Given the description of an element on the screen output the (x, y) to click on. 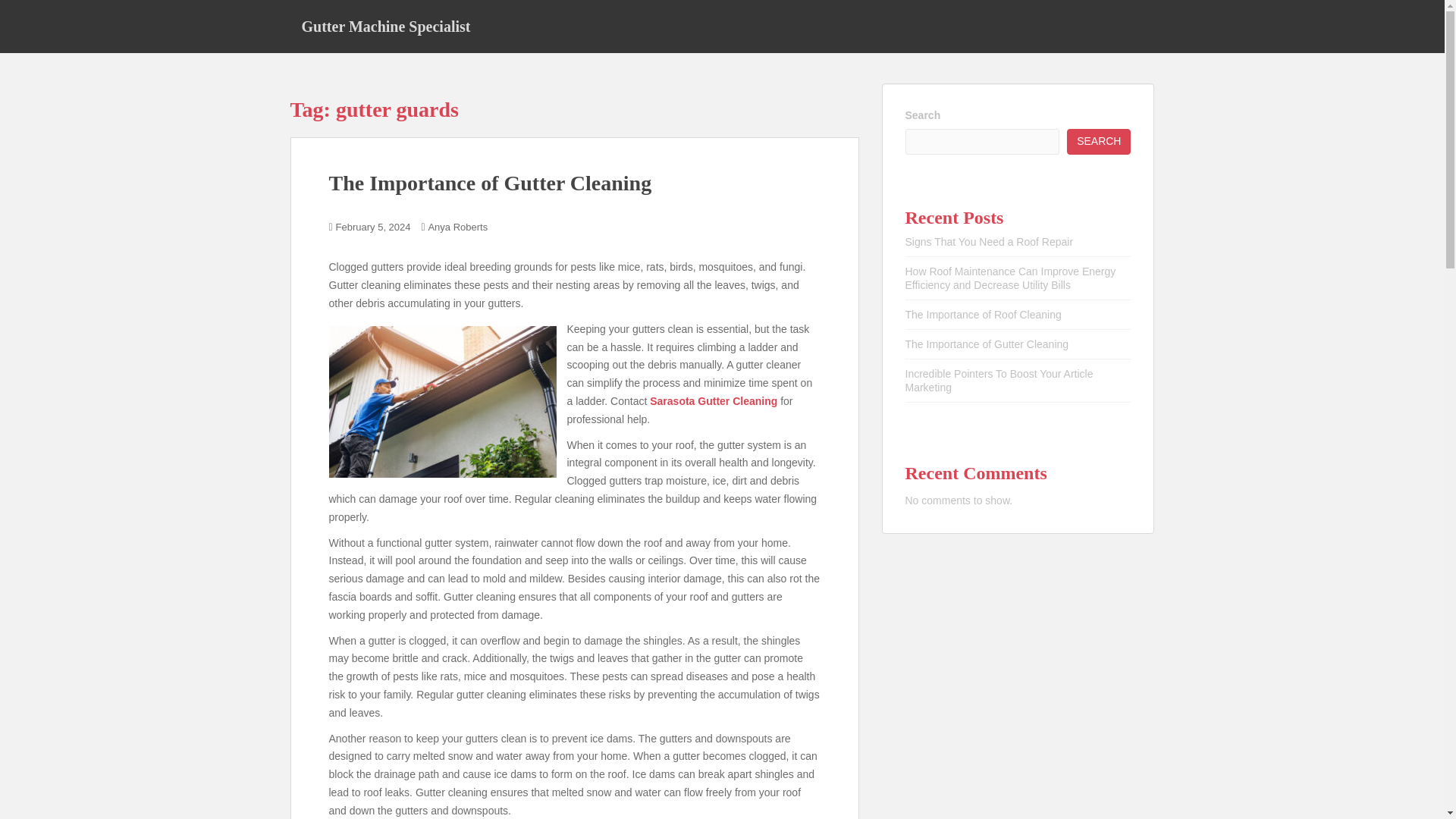
The Importance of Gutter Cleaning (490, 182)
Sarasota Gutter Cleaning (713, 400)
February 5, 2024 (373, 226)
Gutter Machine Specialist (385, 26)
Gutter Machine Specialist (385, 26)
Incredible Pointers To Boost Your Article Marketing (999, 380)
The Importance of Roof Cleaning (983, 314)
Anya Roberts (457, 226)
Signs That You Need a Roof Repair (989, 241)
SEARCH (1099, 141)
The Importance of Gutter Cleaning (986, 344)
